Given the description of an element on the screen output the (x, y) to click on. 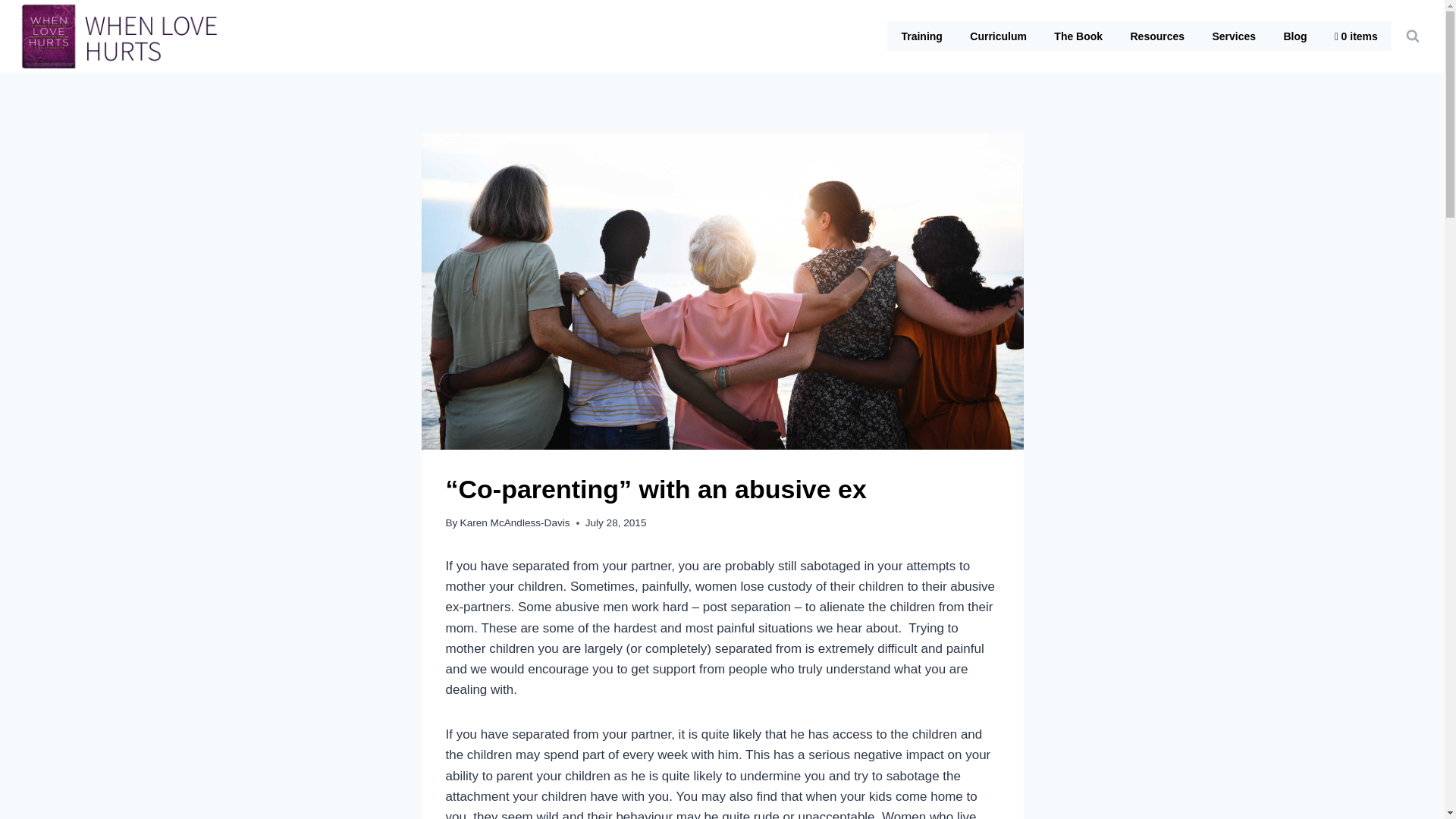
Resources (1157, 35)
Start shopping (1355, 35)
Blog (1294, 35)
Curriculum (998, 35)
0 items (1355, 35)
Karen McAndless-Davis (515, 522)
Training (921, 35)
Services (1233, 35)
The Book (1078, 35)
